Given the description of an element on the screen output the (x, y) to click on. 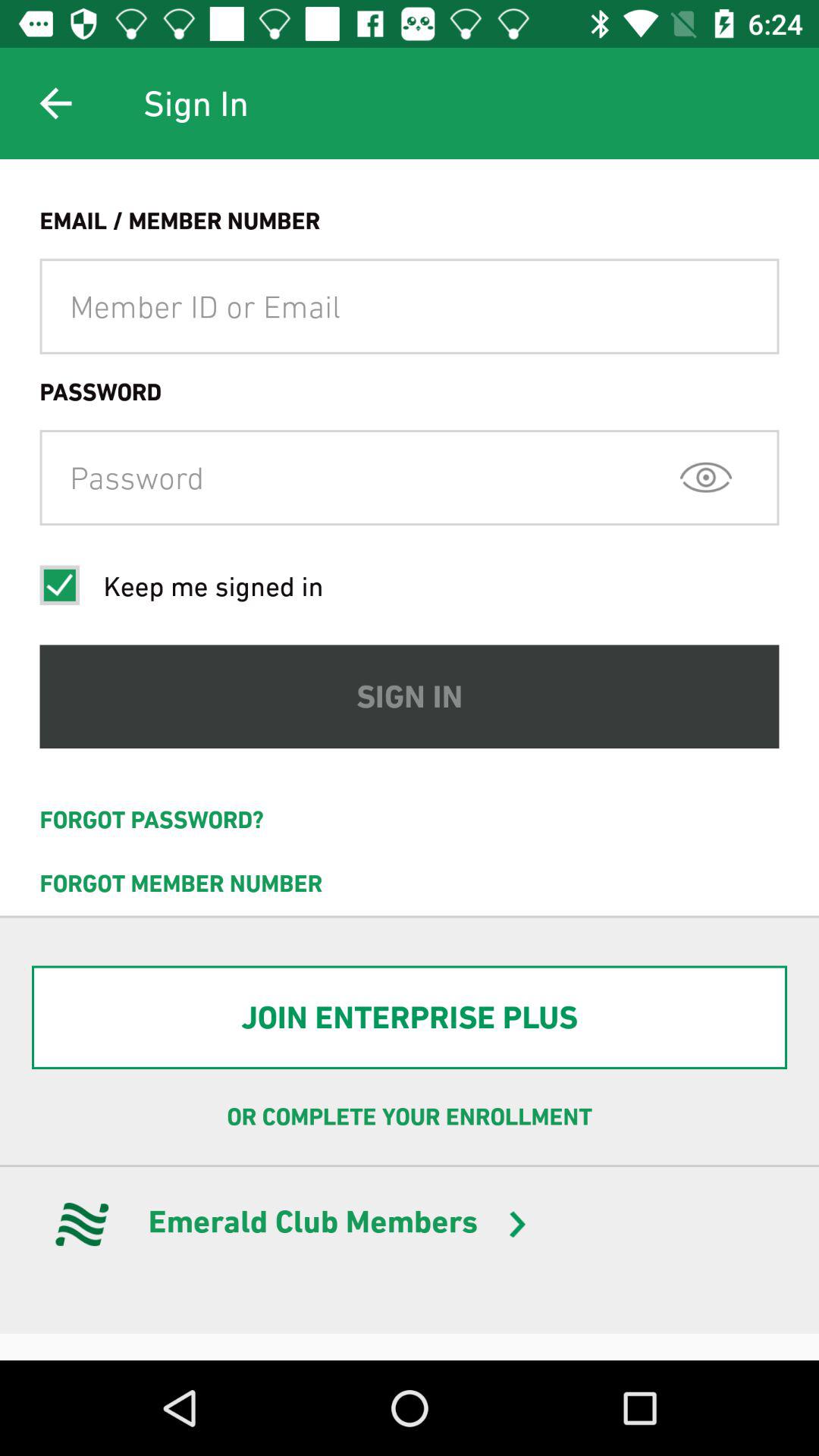
swipe to join enterprise plus item (409, 1017)
